Given the description of an element on the screen output the (x, y) to click on. 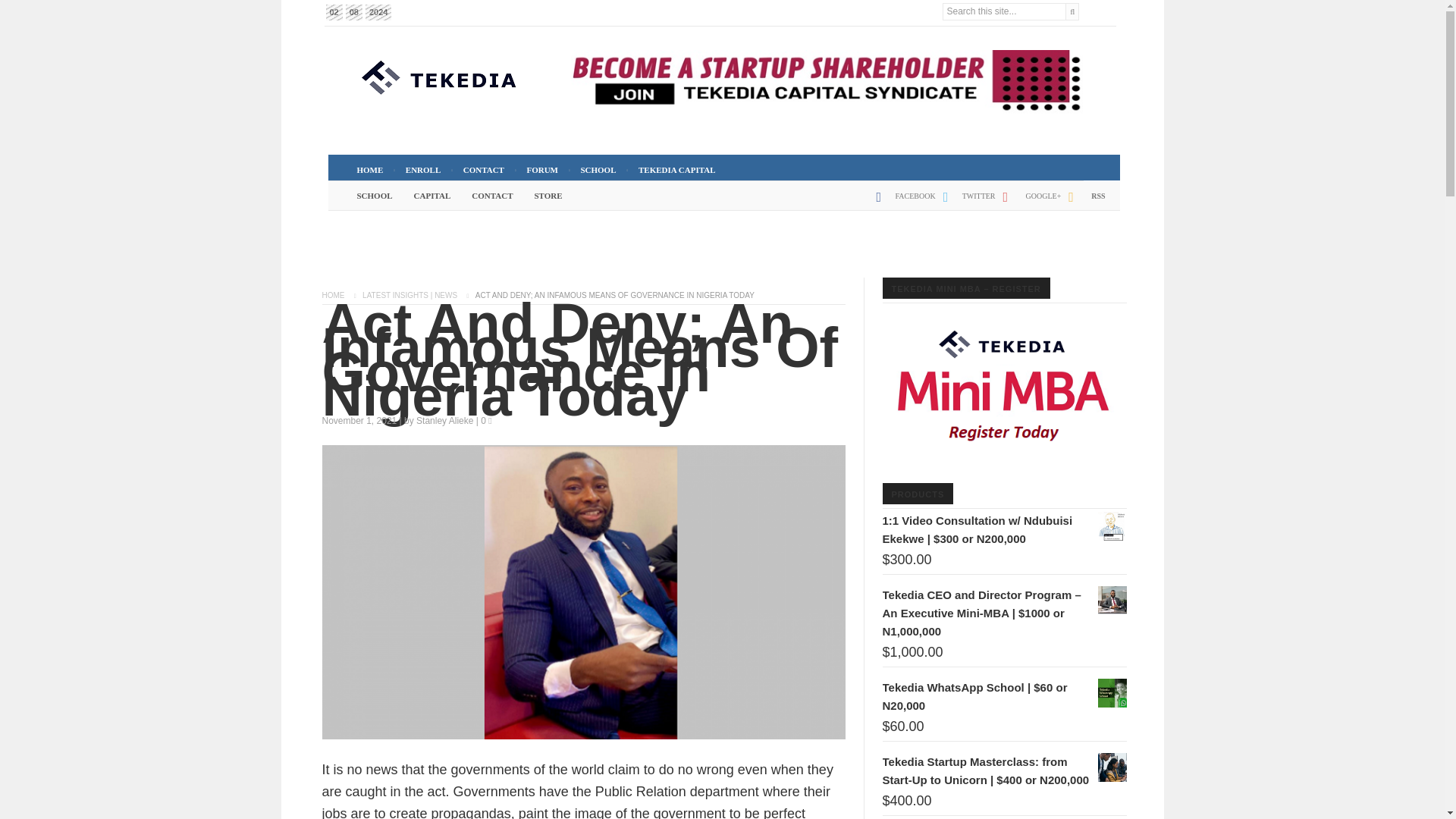
rss (1083, 201)
HOME (369, 169)
twitter (965, 201)
ENROLL (422, 169)
facebook (902, 201)
CONTACT (483, 169)
FORUM (542, 169)
google (1028, 201)
